Given the description of an element on the screen output the (x, y) to click on. 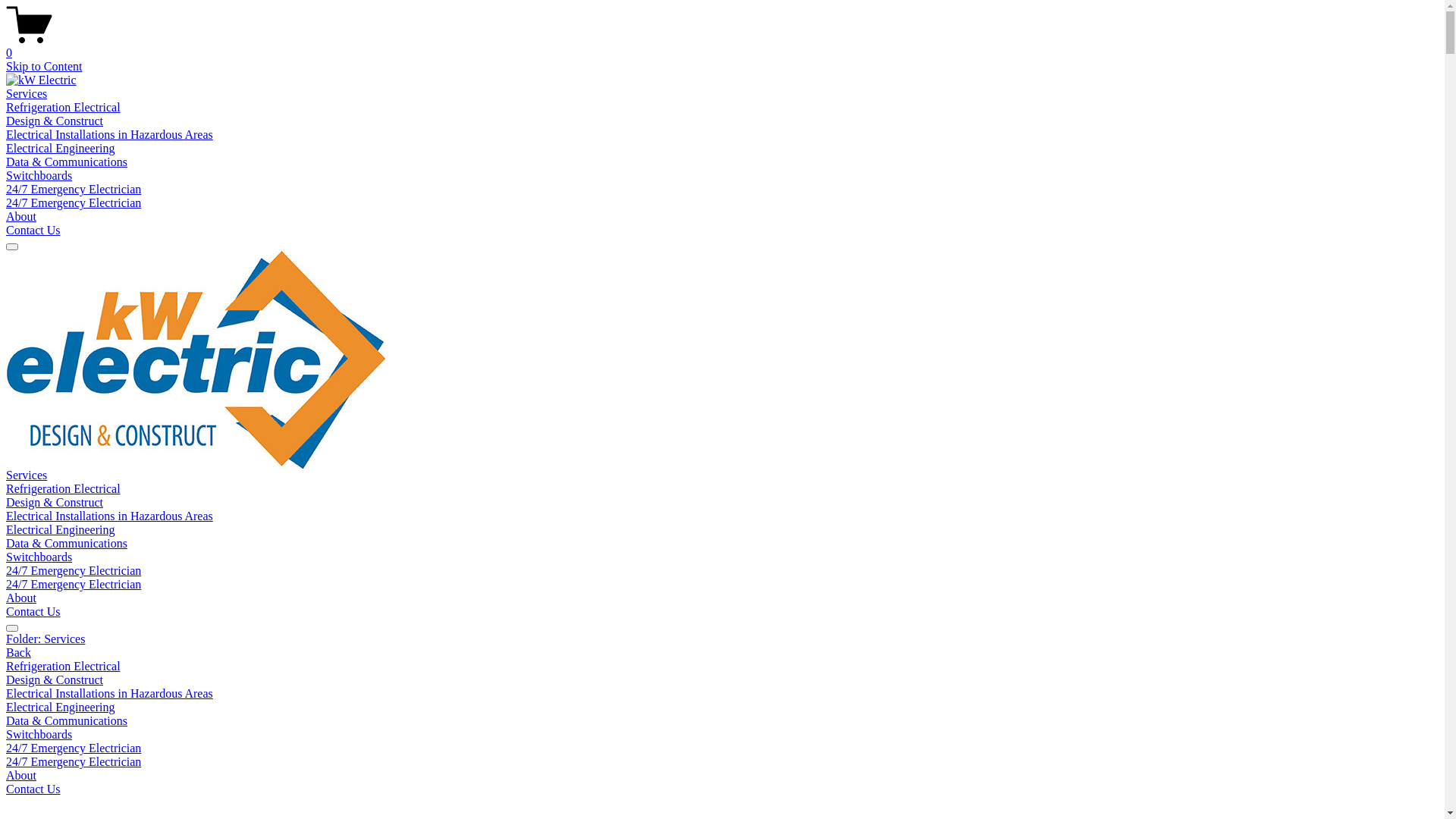
Switchboards Element type: text (39, 175)
Design & Construct Element type: text (54, 501)
Electrical Engineering Element type: text (722, 707)
Data & Communications Element type: text (66, 161)
Design & Construct Element type: text (54, 120)
About Element type: text (21, 216)
Contact Us Element type: text (33, 788)
Data & Communications Element type: text (66, 542)
24/7 Emergency Electrician Element type: text (73, 583)
0 Element type: text (722, 45)
24/7 Emergency Electrician Element type: text (73, 188)
Design & Construct Element type: text (722, 680)
Back Element type: text (18, 652)
Electrical Engineering Element type: text (60, 147)
Folder: Services Element type: text (722, 639)
Contact Us Element type: text (33, 229)
24/7 Emergency Electrician Element type: text (722, 761)
Switchboards Element type: text (39, 556)
24/7 Emergency Electrician Element type: text (73, 570)
Data & Communications Element type: text (722, 721)
Refrigeration Electrical Element type: text (63, 106)
Electrical Installations in Hazardous Areas Element type: text (109, 515)
Refrigeration Electrical Element type: text (722, 666)
Switchboards Element type: text (722, 734)
Services Element type: text (26, 474)
Skip to Content Element type: text (43, 65)
About Element type: text (722, 775)
Electrical Engineering Element type: text (60, 529)
Services Element type: text (26, 93)
Electrical Installations in Hazardous Areas Element type: text (722, 693)
About Element type: text (21, 597)
24/7 Emergency Electrician Element type: text (73, 747)
Contact Us Element type: text (33, 611)
Refrigeration Electrical Element type: text (63, 488)
Electrical Installations in Hazardous Areas Element type: text (109, 134)
24/7 Emergency Electrician Element type: text (73, 202)
